Given the description of an element on the screen output the (x, y) to click on. 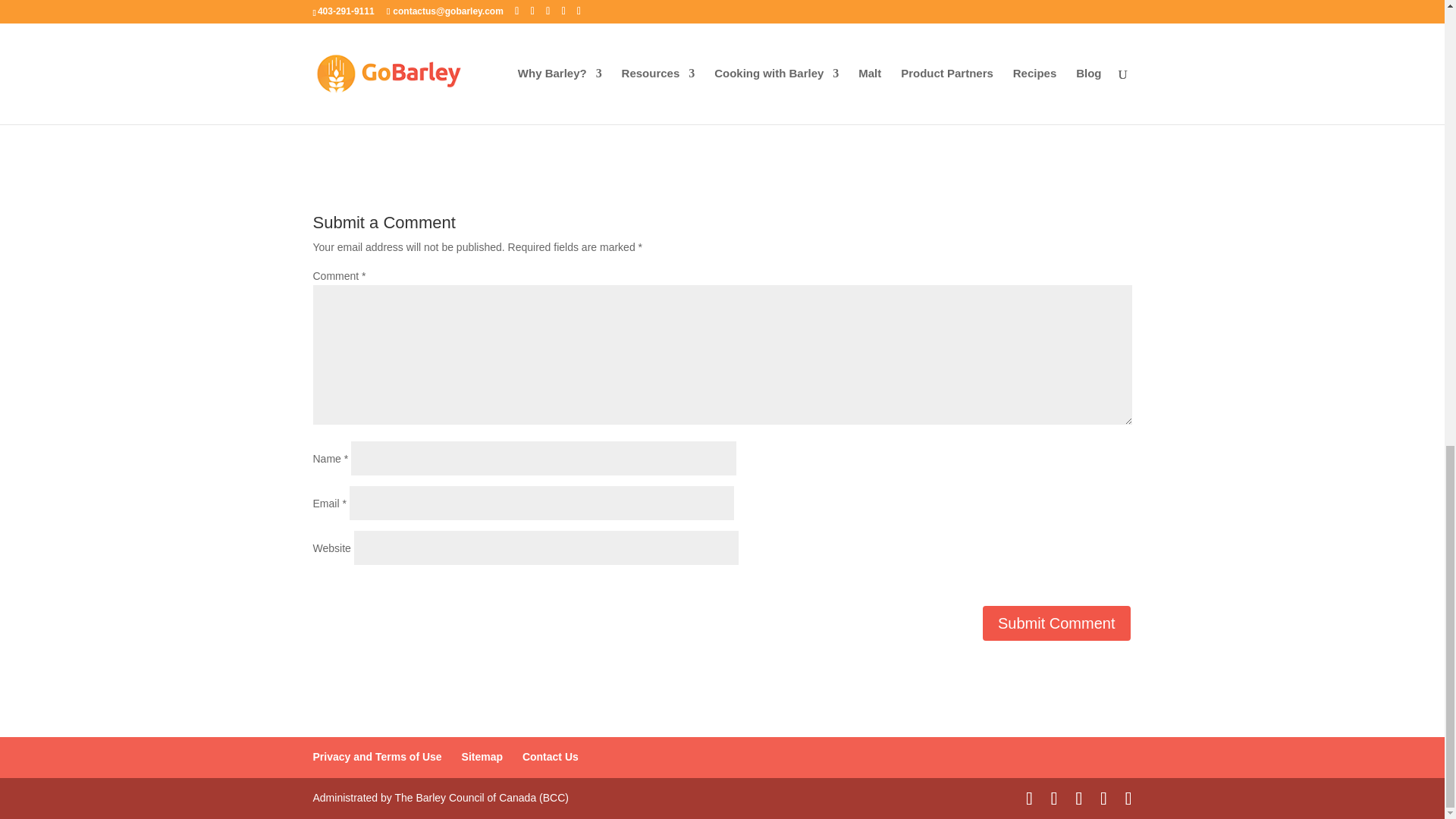
Submit Comment (1056, 623)
Contact Us (550, 756)
Submit Comment (1056, 623)
Sitemap (481, 756)
Privacy and Terms of Use (377, 756)
